Given the description of an element on the screen output the (x, y) to click on. 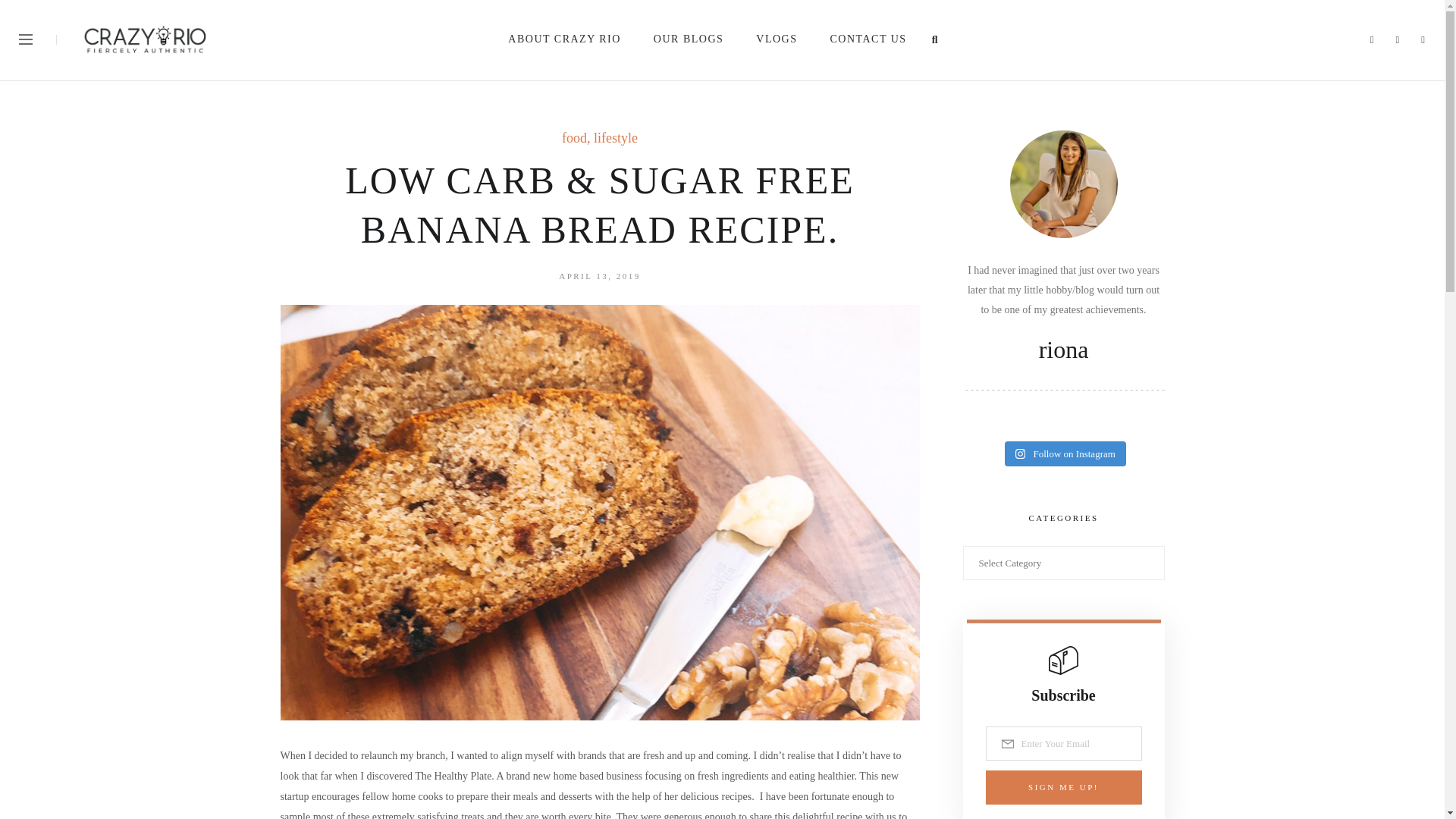
OUR BLOGS (690, 39)
YouTube (1423, 39)
ABOUT CRAZY RIO (566, 39)
lifestyle (615, 138)
VLOGS (777, 39)
Instagram (1396, 39)
CONTACT US (868, 39)
food (574, 138)
Facebook (1372, 39)
